Given the description of an element on the screen output the (x, y) to click on. 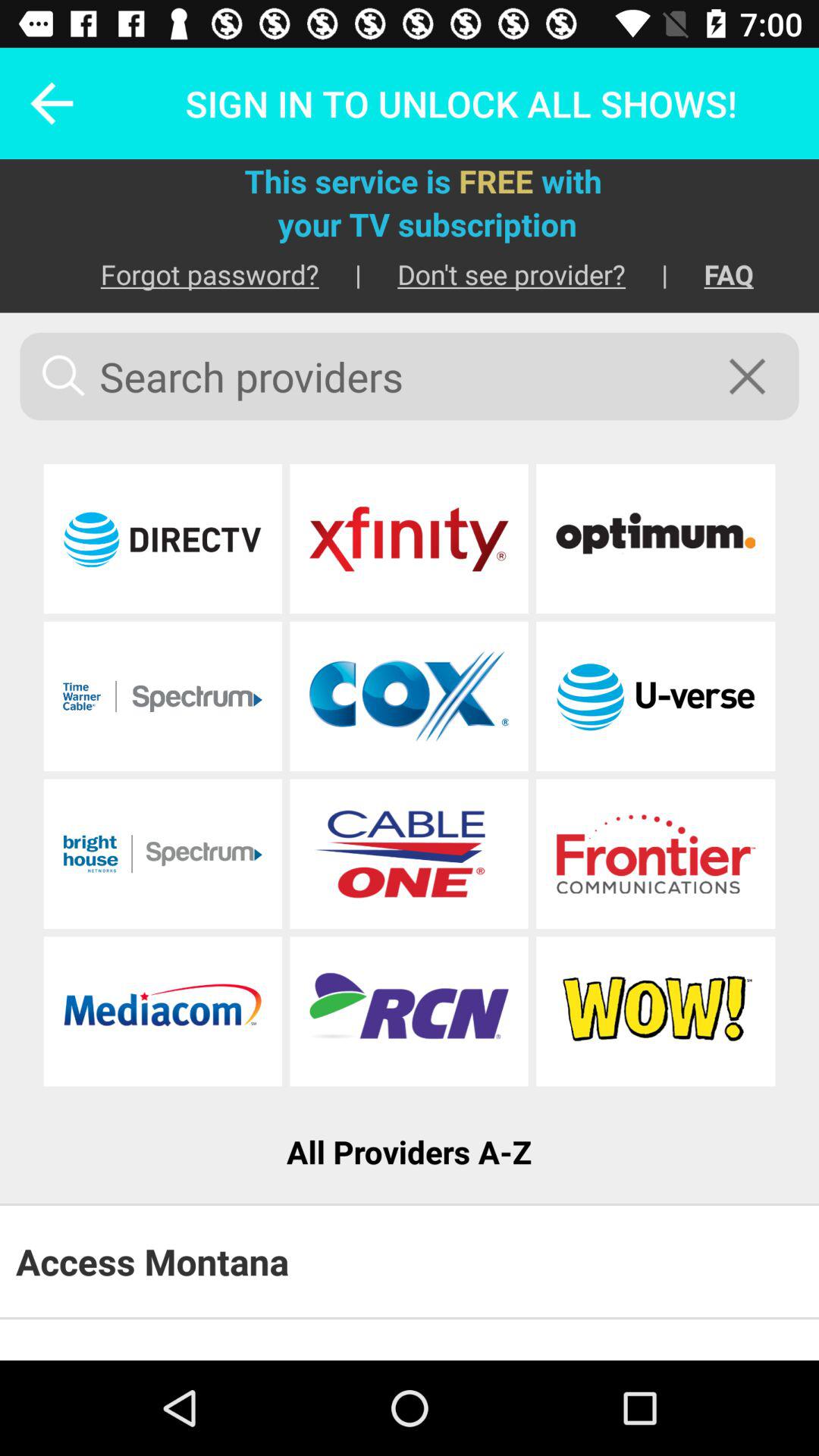
go to website (162, 1011)
